Given the description of an element on the screen output the (x, y) to click on. 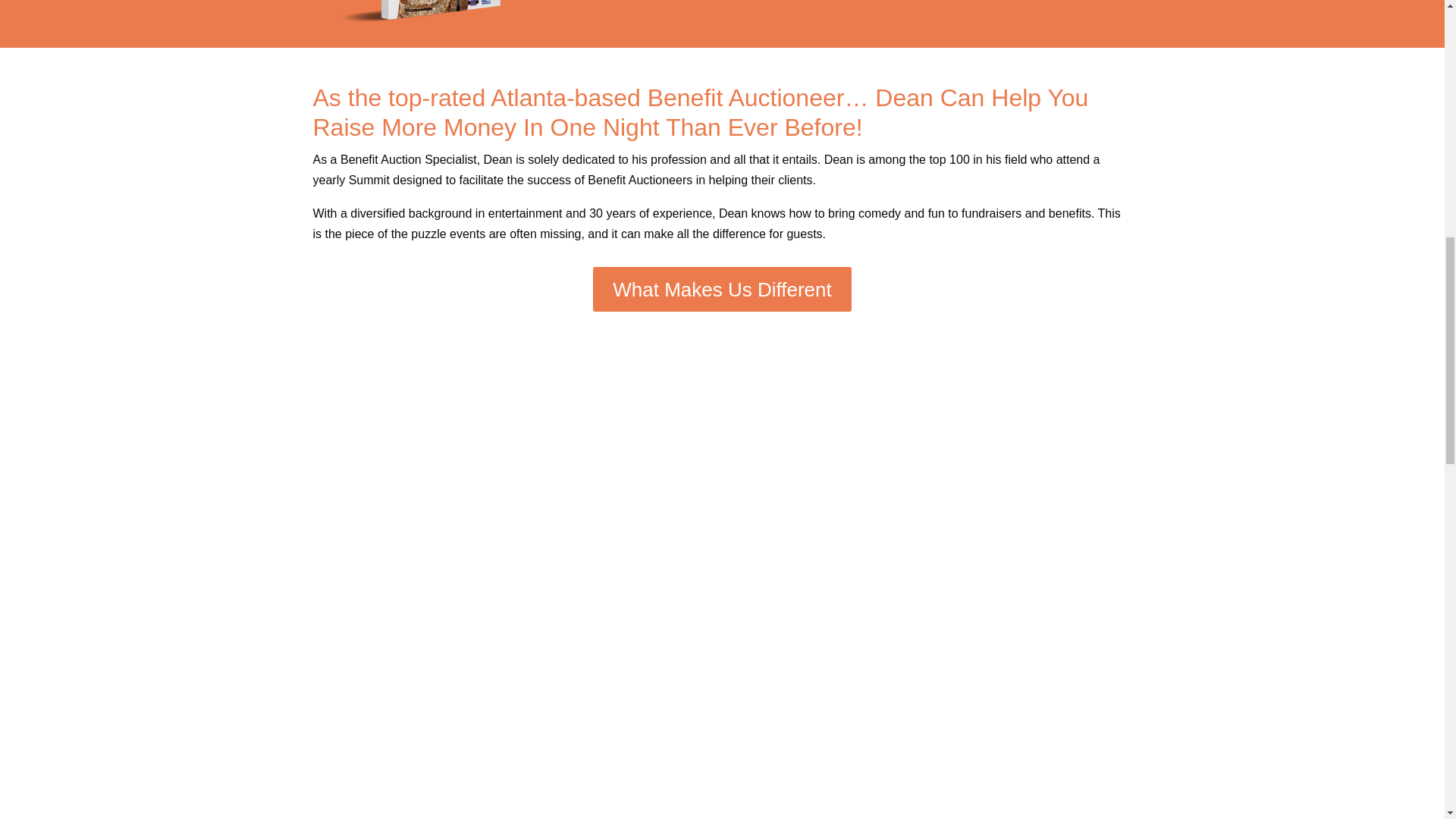
What Makes Us Different (721, 289)
